Given the description of an element on the screen output the (x, y) to click on. 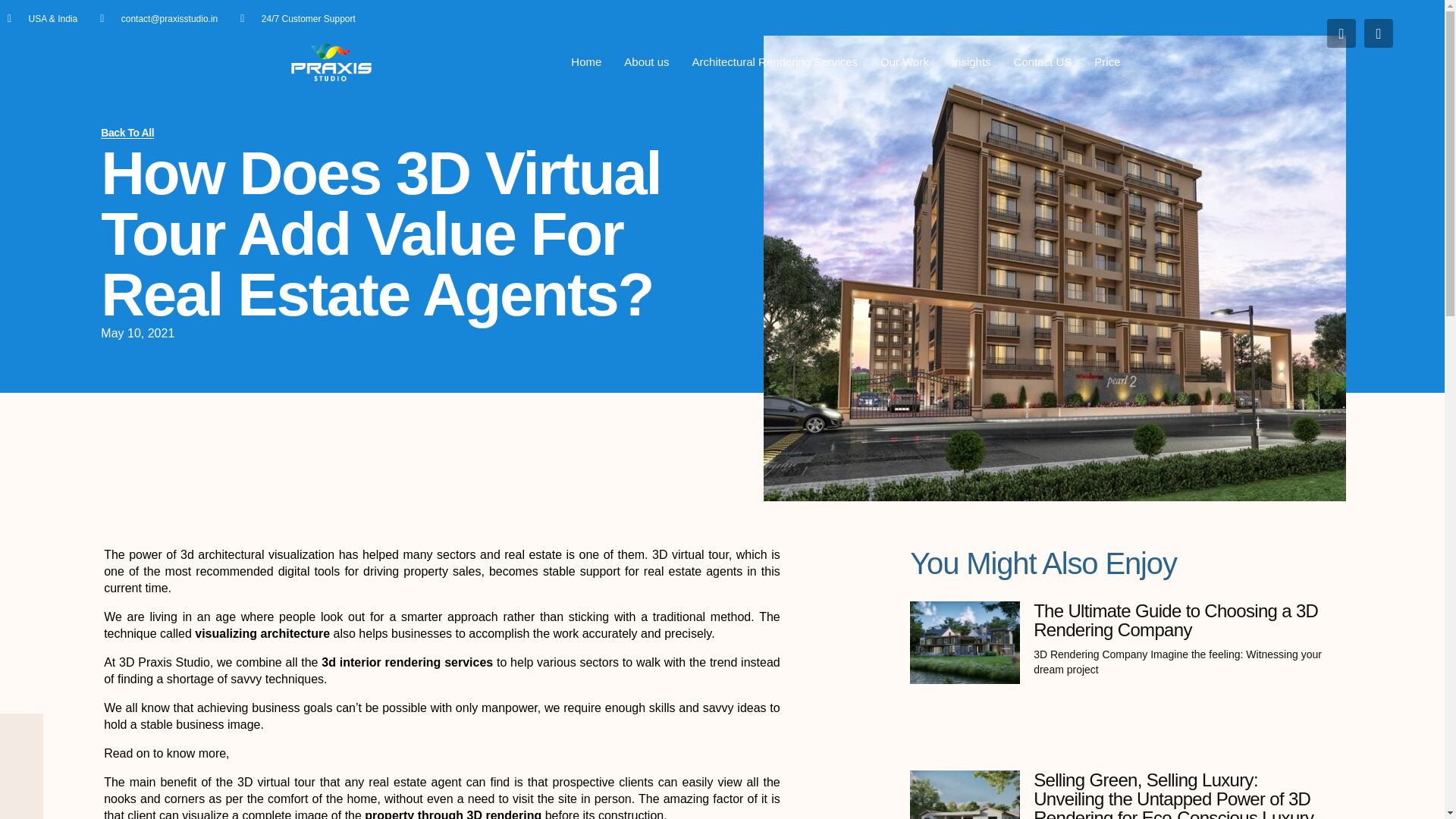
Our Work (904, 61)
About us (645, 61)
About us (645, 61)
Architectural Rendering Services (775, 61)
Architectural Rendering Services (775, 61)
